Given the description of an element on the screen output the (x, y) to click on. 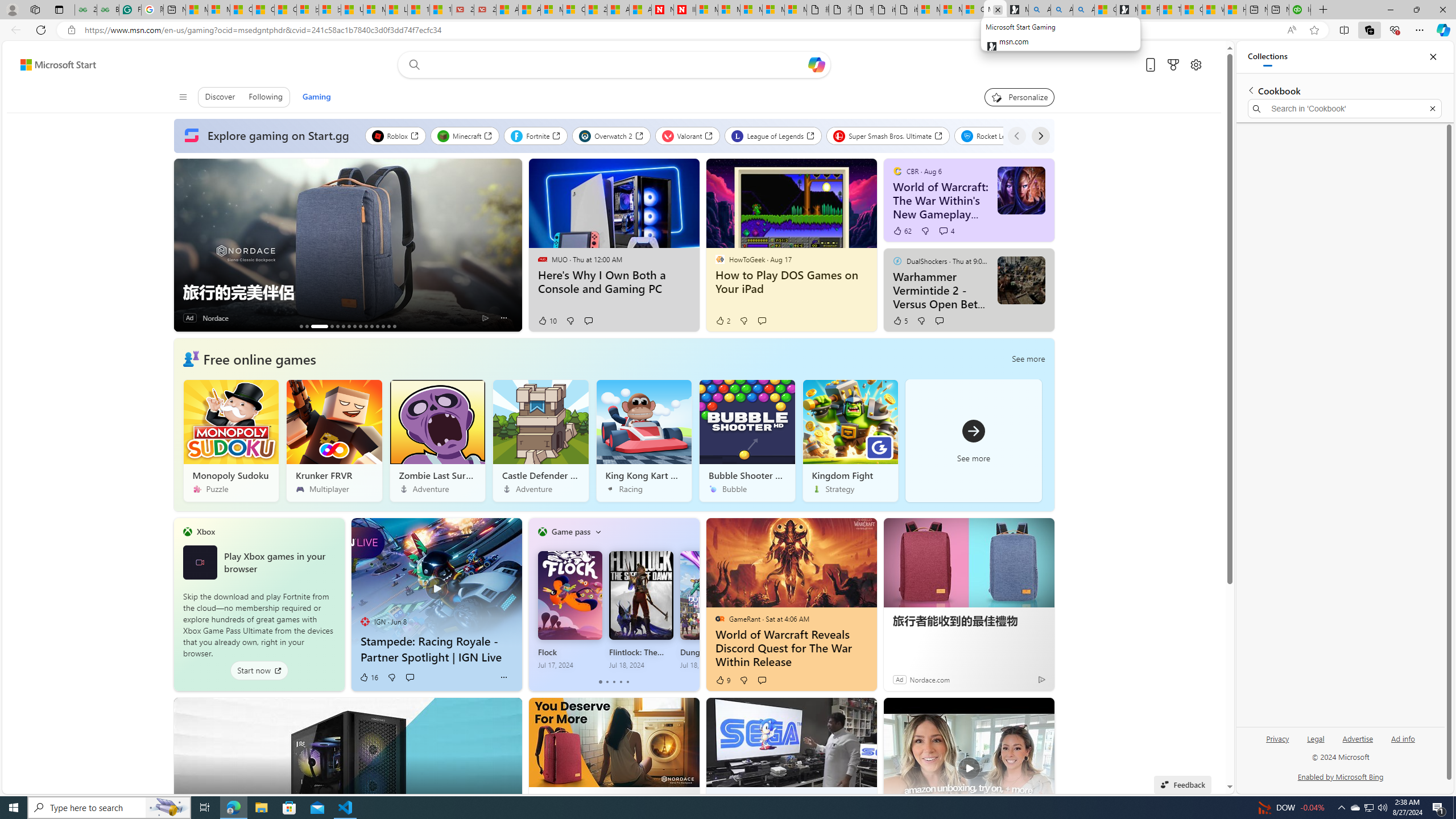
tab-3 (620, 682)
AutomationID: nativead-infopane-3-ad-choice (485, 317)
MUO (542, 258)
Bubble Shooter HD (746, 440)
Exit search (1432, 108)
